Given the description of an element on the screen output the (x, y) to click on. 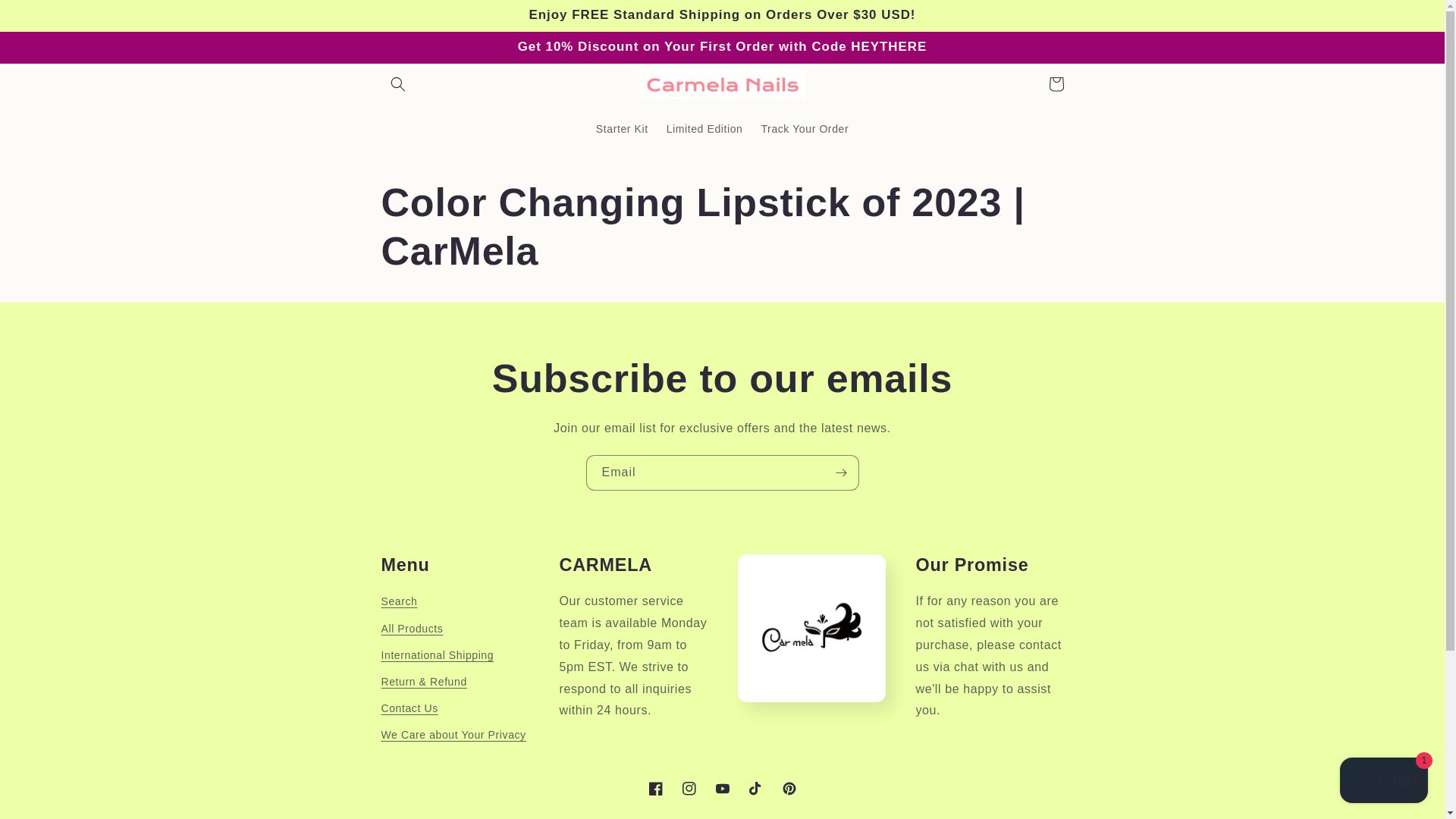
International Shipping (436, 655)
All Products (411, 628)
Facebook (655, 788)
Instagram (687, 788)
Contact Us (409, 708)
We Care about Your Privacy (452, 734)
Limited Edition (705, 128)
YouTube (721, 788)
Cart (1055, 83)
Skip to content (45, 17)
Track Your Order (804, 128)
Starter Kit (622, 128)
Shopify online store chat (1383, 781)
Pinterest (788, 788)
Search (398, 603)
